Given the description of an element on the screen output the (x, y) to click on. 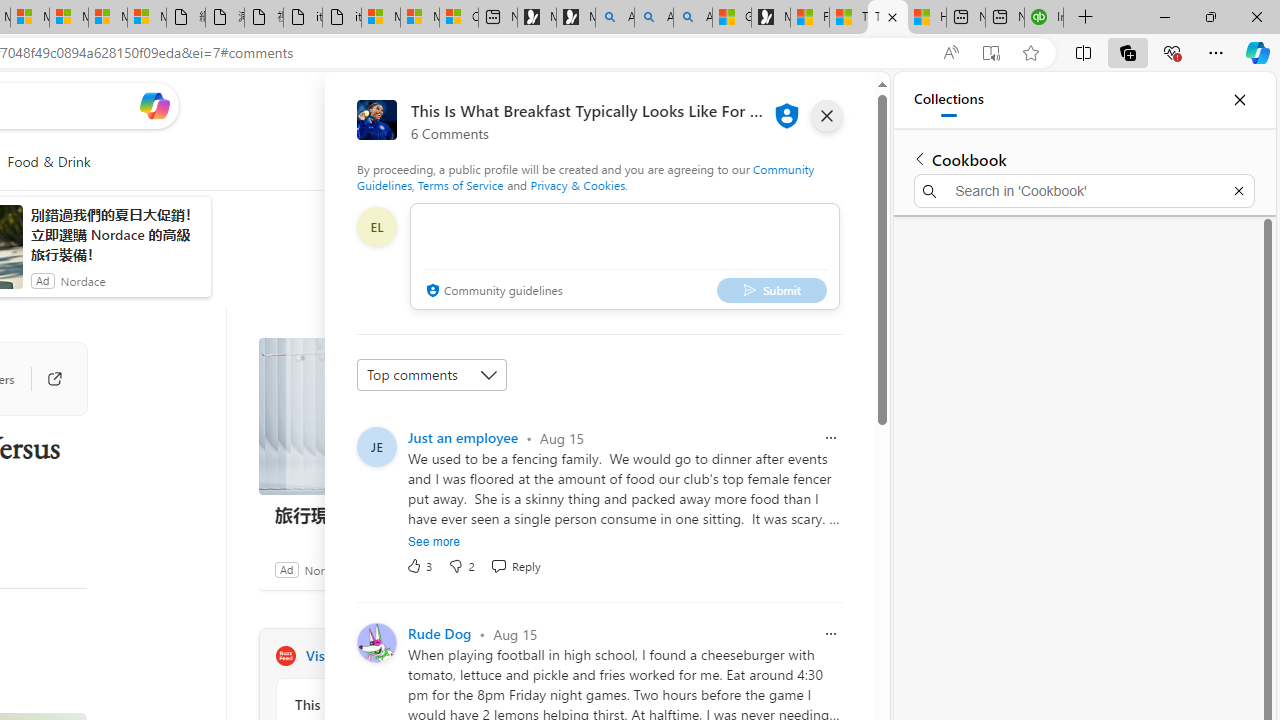
itconcepthk.com/projector_solutions.mp4 (341, 17)
Terms of Service (461, 184)
Report comment (831, 633)
Community guidelines (492, 291)
comment-box (624, 256)
Submit (771, 290)
Alabama high school quarterback dies - Search (614, 17)
Just an employee (463, 437)
